Given the description of an element on the screen output the (x, y) to click on. 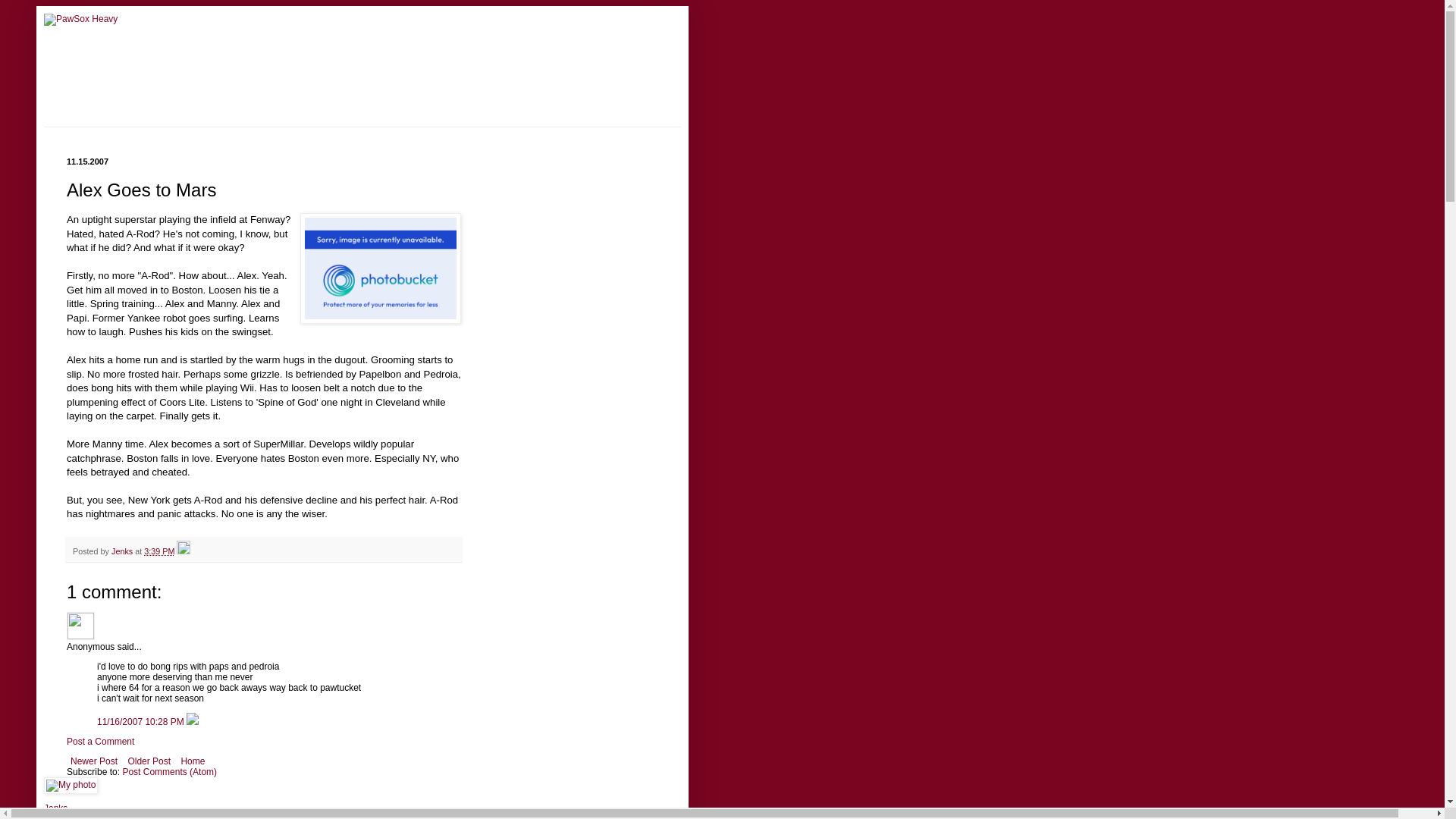
Edit Post (183, 551)
Delete Comment (192, 721)
Older Post (148, 761)
author profile (123, 551)
3:39 PM (159, 551)
Post a Comment (99, 741)
Anonymous (80, 625)
comment permalink (141, 721)
Newer Post (93, 761)
Newer Post (93, 761)
Jenks (123, 551)
Home (192, 761)
Jenks (54, 808)
permanent link (159, 551)
Older Post (148, 761)
